Given the description of an element on the screen output the (x, y) to click on. 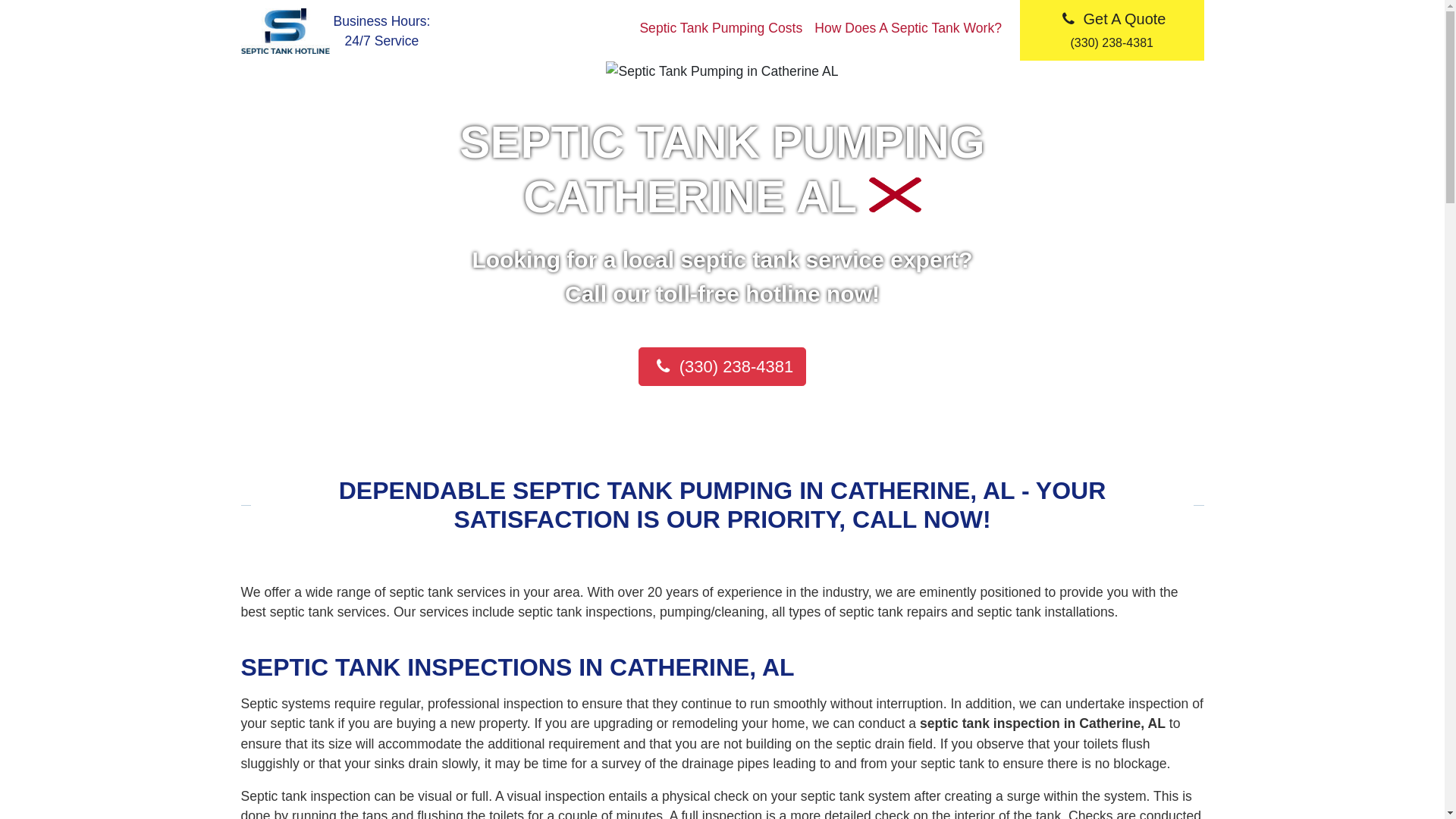
Septic Tank Hotline (285, 31)
Septic Tank Hotline (287, 29)
How Does A Septic Tank Work? (907, 28)
Septic Tank Pumping in Catherine AL (721, 71)
Septic Tank Pumping Costs (720, 28)
Septic Tank Pumping in Catherine AL (895, 194)
